Given the description of an element on the screen output the (x, y) to click on. 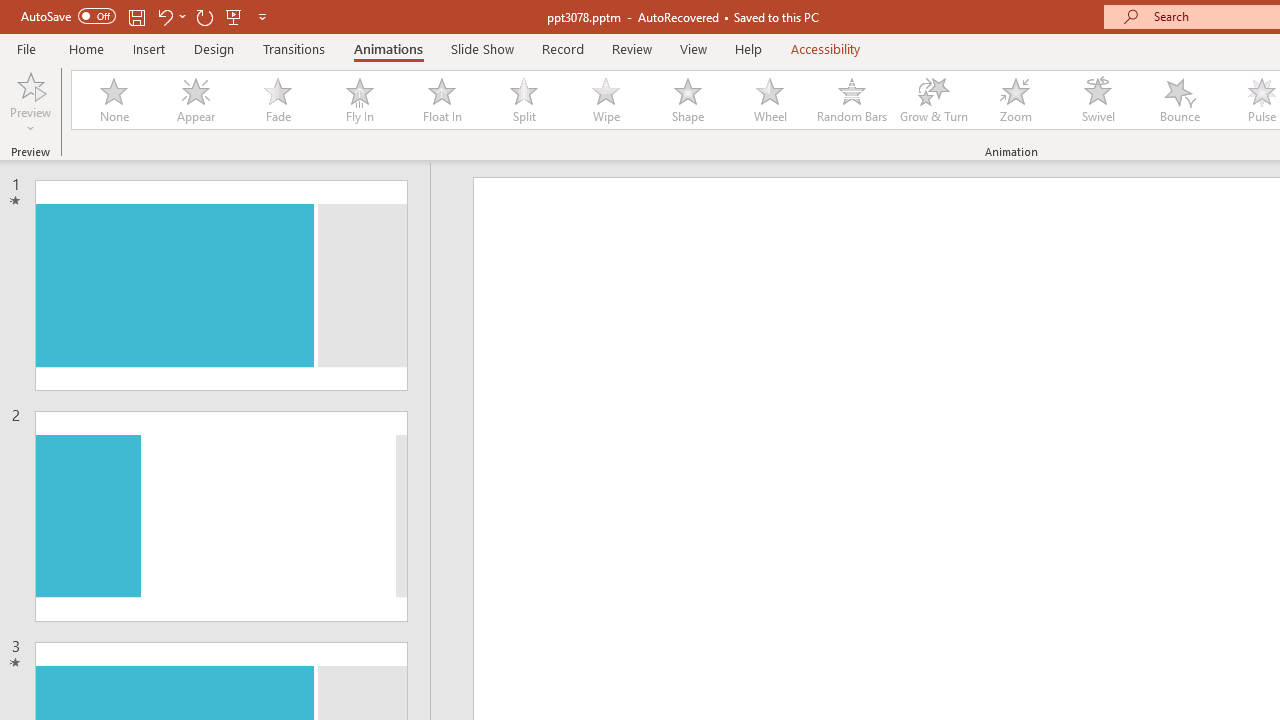
Float In (441, 100)
Wheel (770, 100)
Fly In (359, 100)
Shape (687, 100)
Swivel (1098, 100)
Wipe (605, 100)
Bounce (1180, 100)
